Given the description of an element on the screen output the (x, y) to click on. 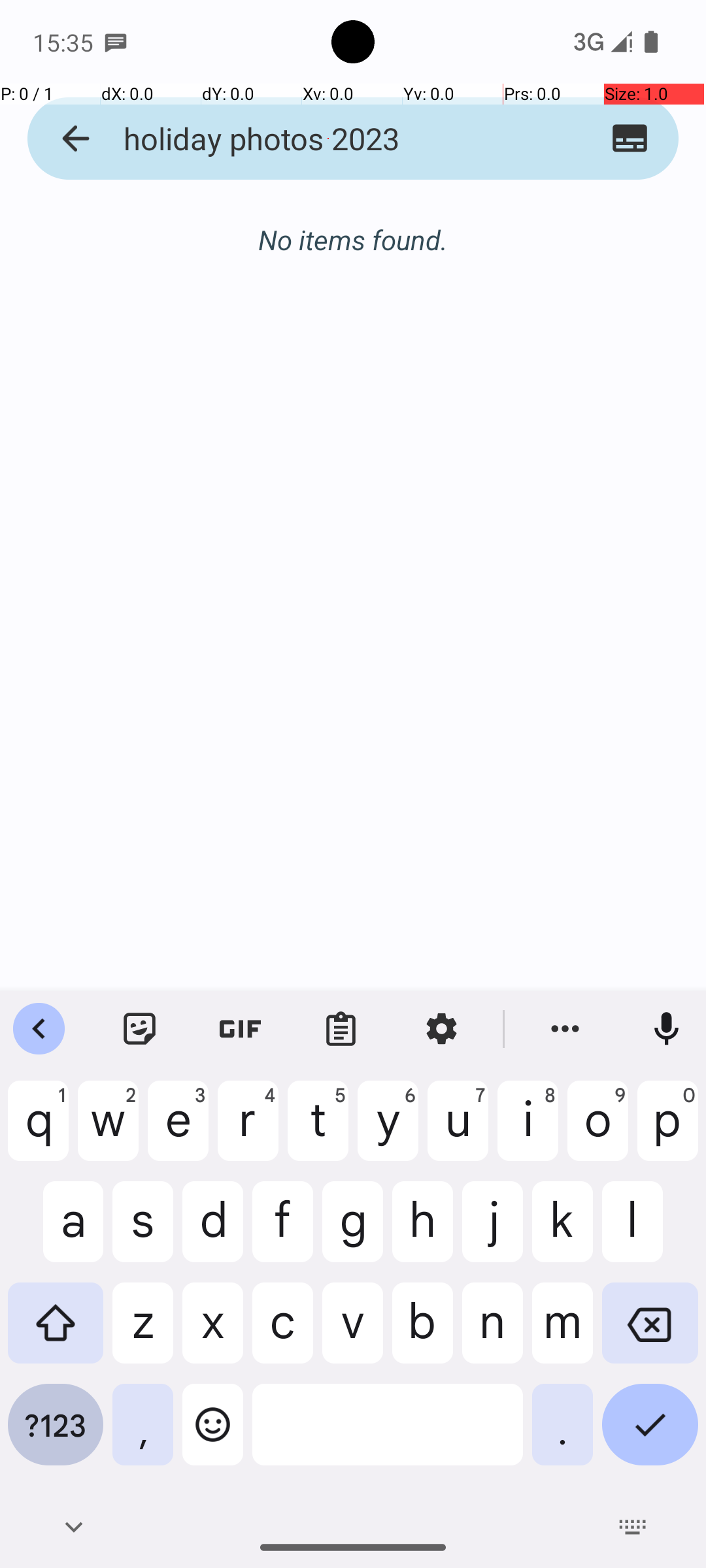
No items found. Element type: android.widget.TextView (353, 225)
holiday photos 2023 Element type: android.widget.EditText (328, 138)
Toggle filename visibility Element type: android.widget.Button (629, 138)
